Given the description of an element on the screen output the (x, y) to click on. 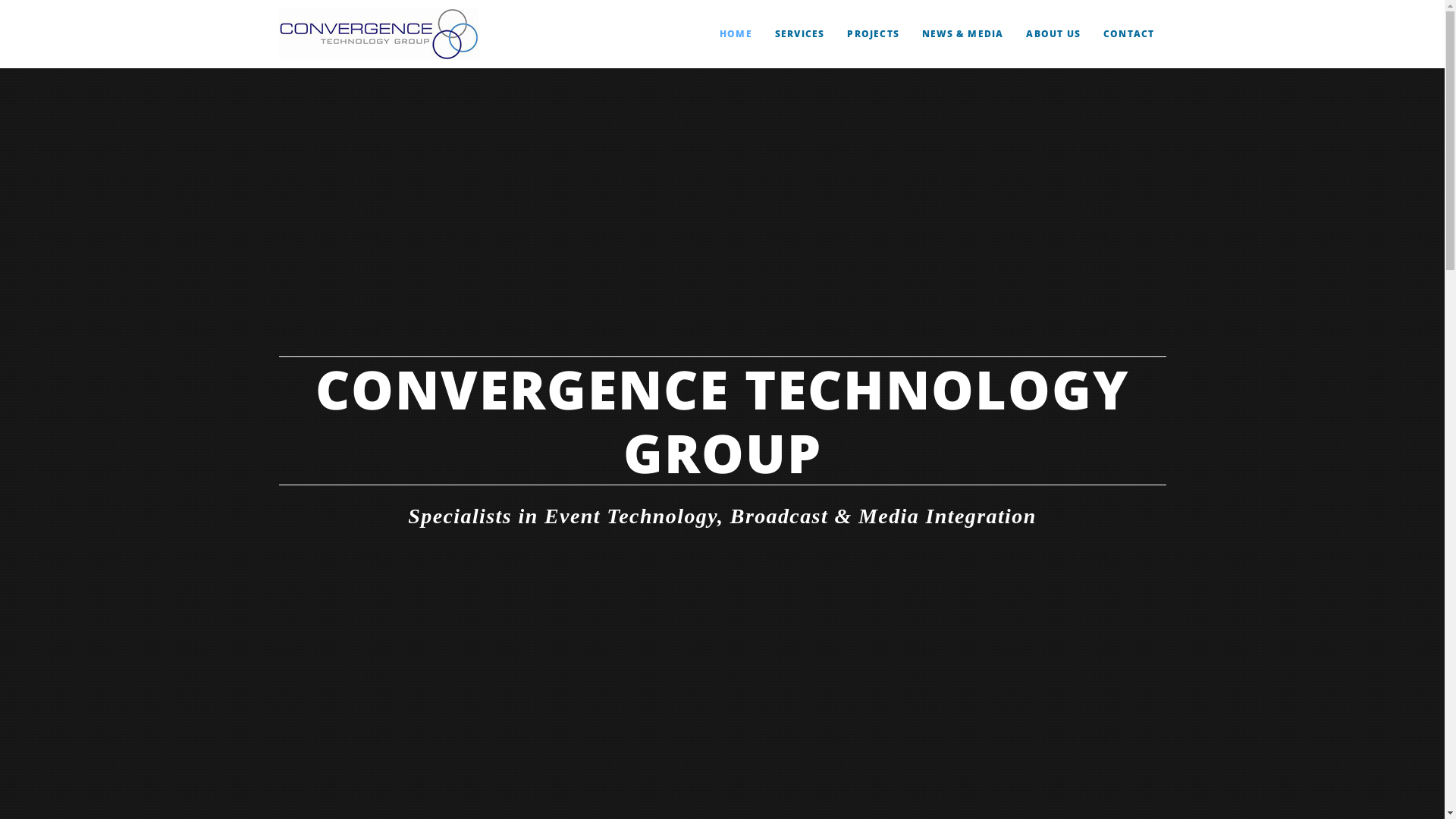
HOME Element type: text (735, 34)
SERVICES Element type: text (800, 34)
NEWS & MEDIA Element type: text (962, 34)
ABOUT US Element type: text (1053, 34)
CONTACT Element type: text (1128, 34)
Convergence Technology Element type: hover (379, 33)
PROJECTS Element type: text (873, 34)
